Given the description of an element on the screen output the (x, y) to click on. 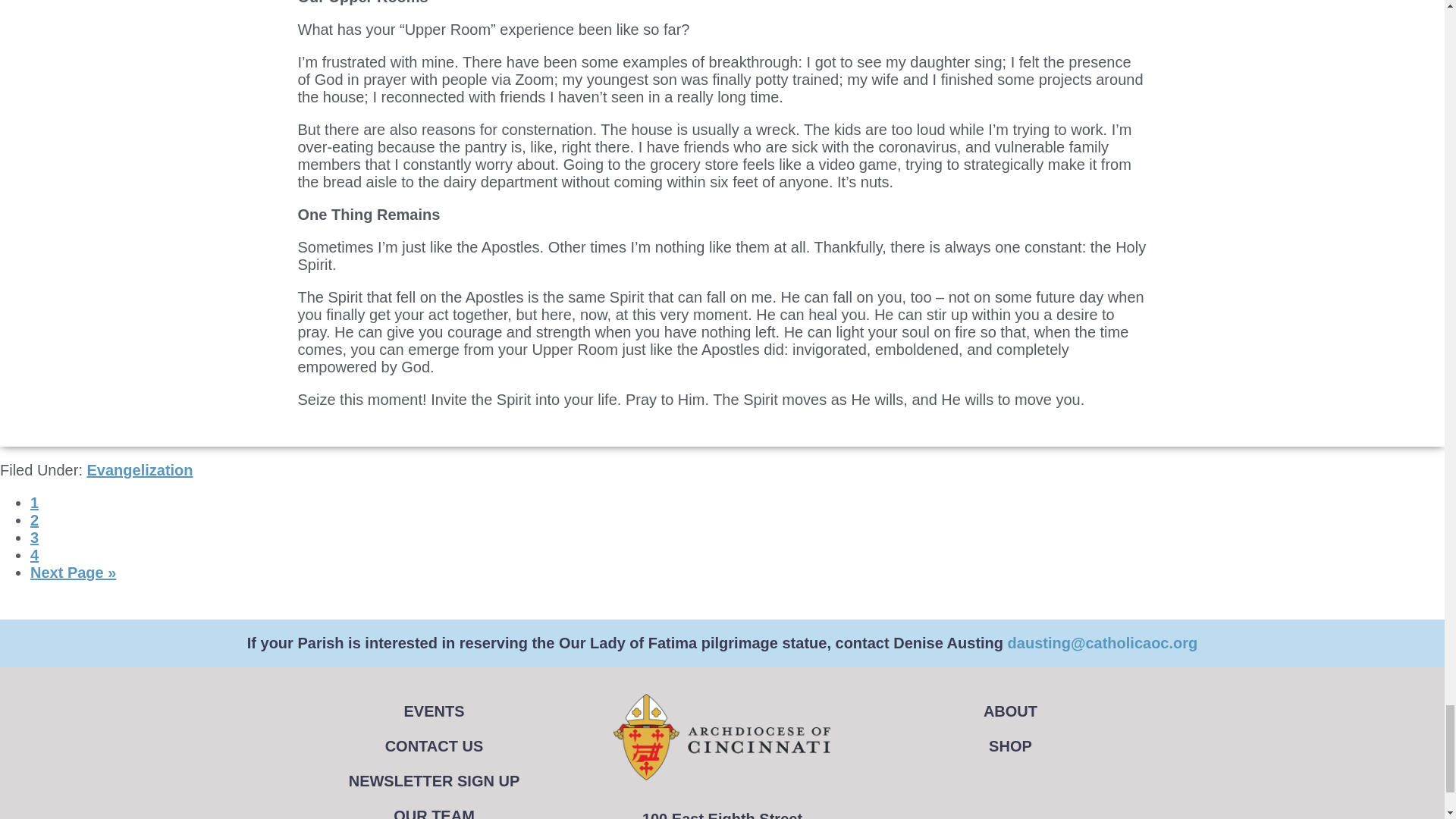
NEWSLETTER SIGN UP (433, 780)
EVENTS (433, 710)
Evangelization (138, 469)
CONTACT US (433, 745)
OUR TEAM (433, 808)
